Given the description of an element on the screen output the (x, y) to click on. 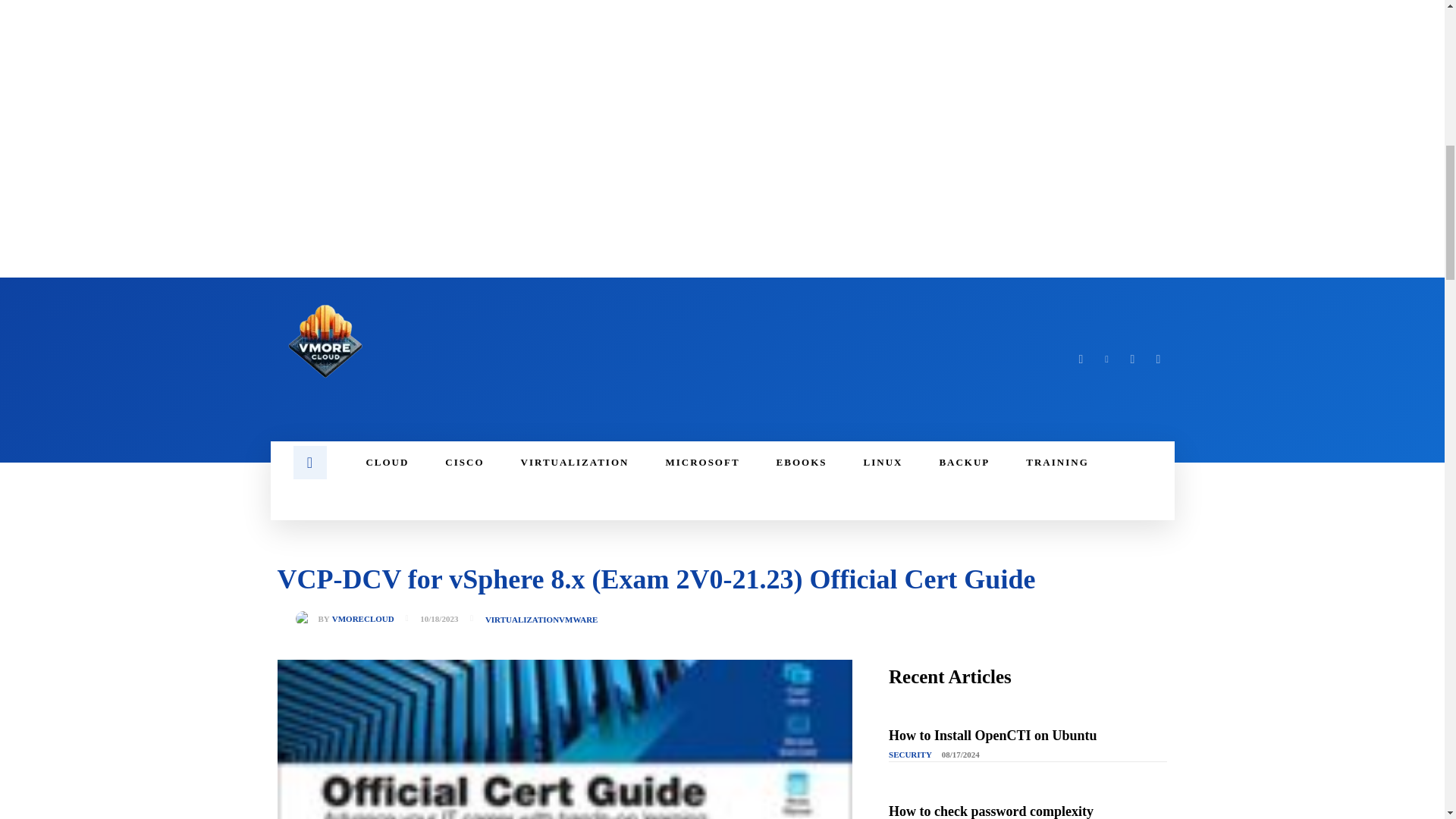
Youtube (1158, 359)
vmorecloud (306, 618)
EBOOKS (801, 462)
LINUX (883, 462)
CLOUD (386, 462)
VIRTUALIZATION (521, 619)
VIRTUALIZATION (574, 462)
BACKUP (963, 462)
VMORECLOUD (362, 619)
TRAINING (1056, 462)
